Given the description of an element on the screen output the (x, y) to click on. 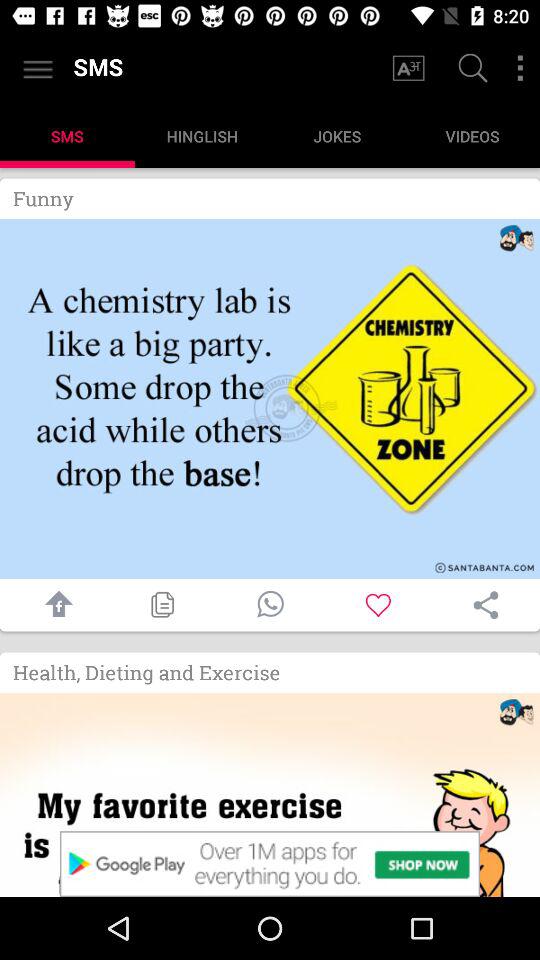
searching option (470, 70)
